Given the description of an element on the screen output the (x, y) to click on. 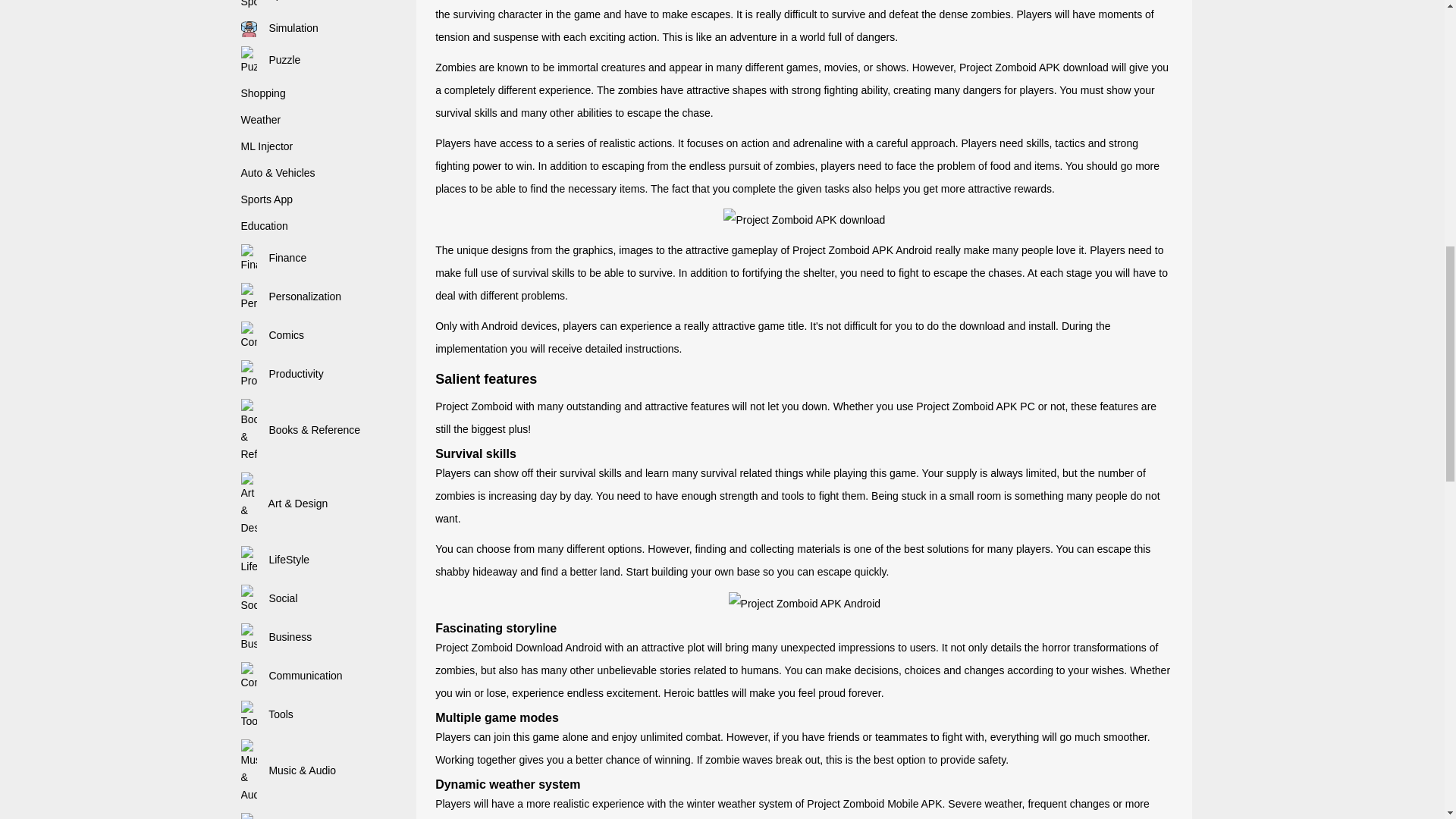
Personalization (291, 296)
Shopping (263, 92)
Puzzle (271, 60)
Comics (272, 335)
Education (264, 225)
Sports App (267, 199)
Weather (261, 119)
ML Injector (267, 146)
Simulation (279, 28)
Finance (274, 257)
Productivity (282, 373)
Sports (270, 0)
